Given the description of an element on the screen output the (x, y) to click on. 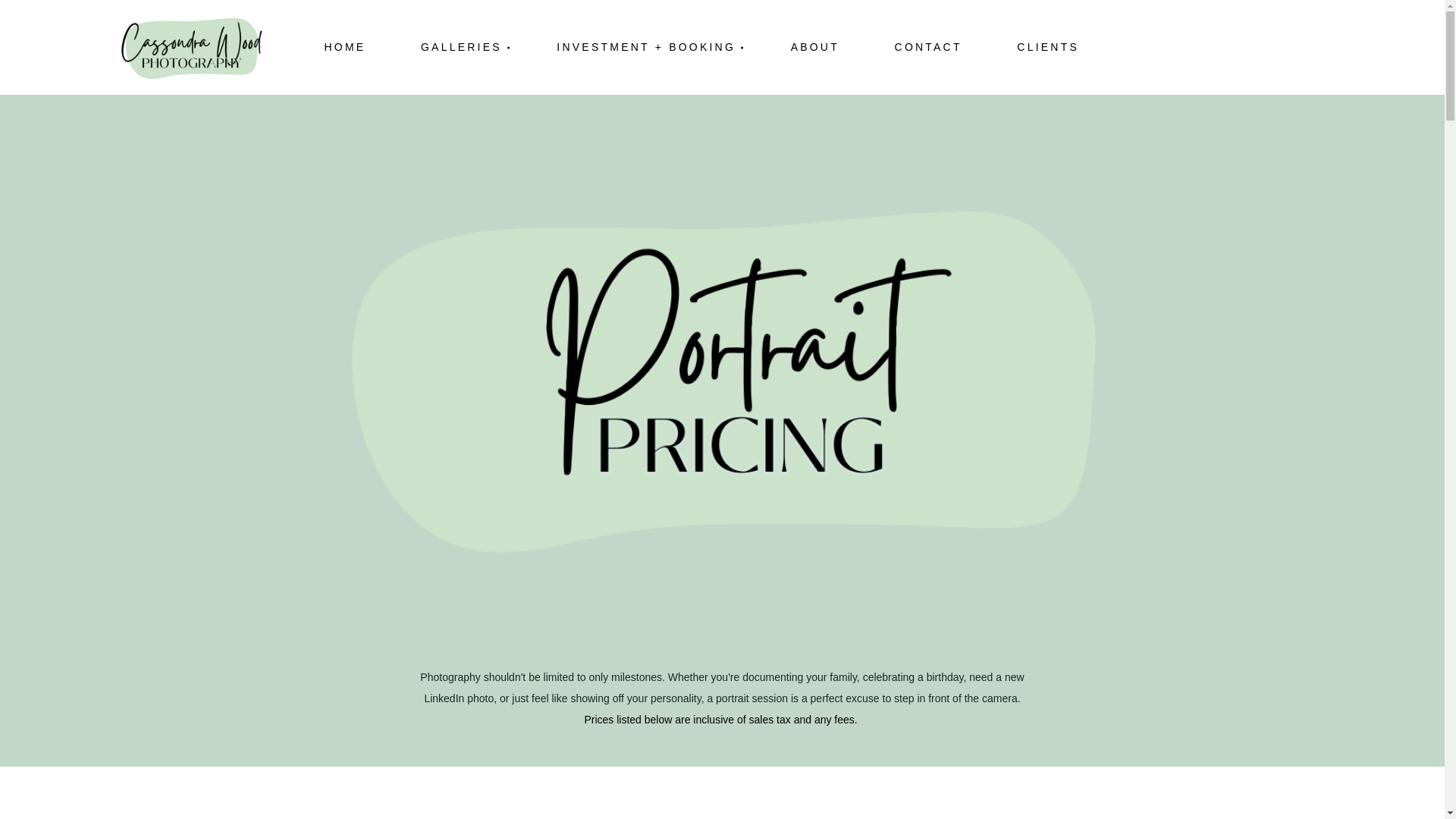
ABOUT (820, 47)
GALLERIES (466, 47)
CLIENTS (1053, 47)
HOME (350, 47)
CONTACT (933, 47)
